Given the description of an element on the screen output the (x, y) to click on. 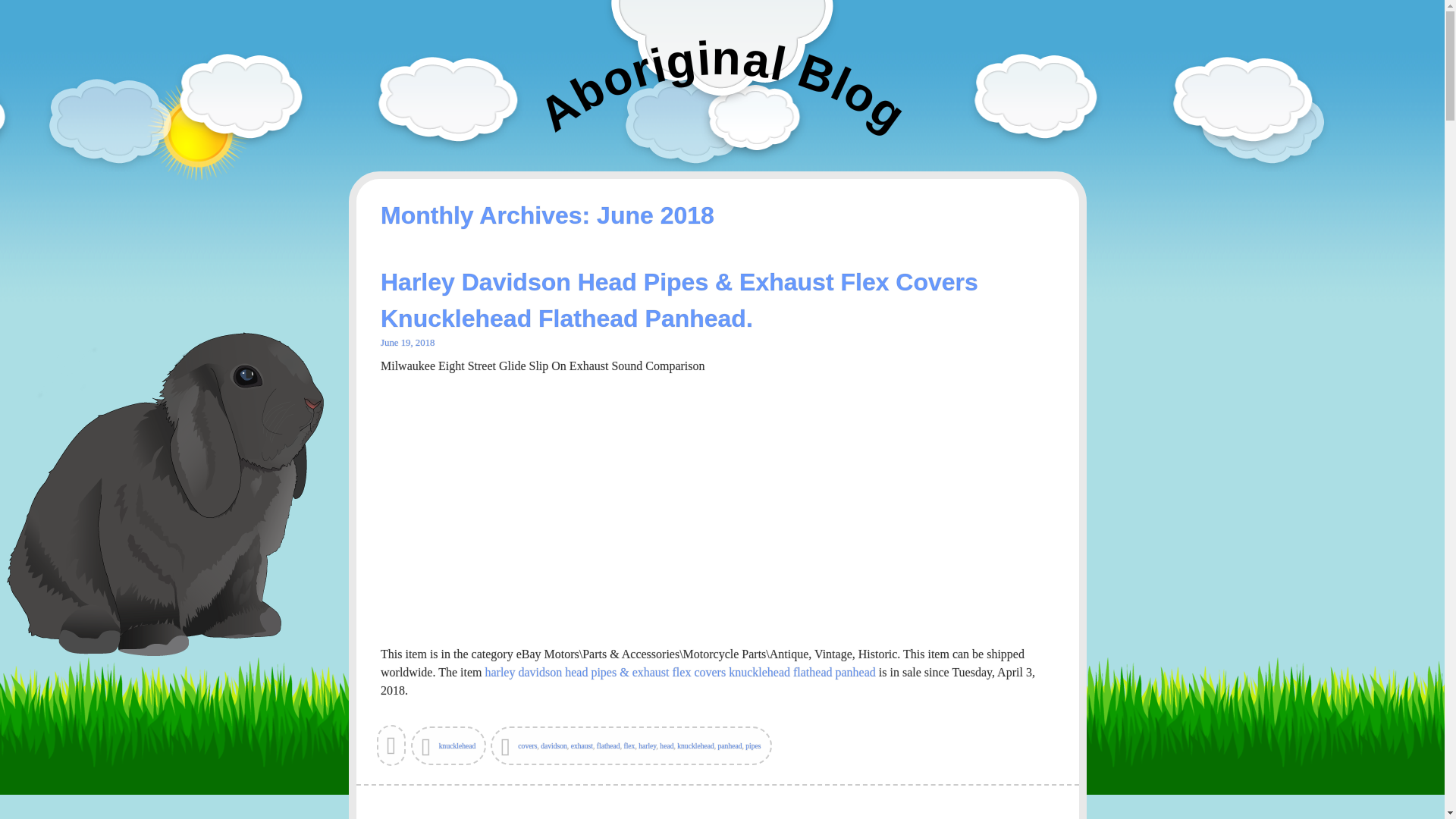
pipes (752, 746)
Category (448, 745)
harley (647, 746)
head (665, 746)
knucklehead (457, 746)
knucklehead (695, 746)
June 19, 2018 (406, 342)
Tags (630, 745)
panhead (729, 746)
exhaust (581, 746)
flathead (608, 746)
flex (628, 746)
davidson (553, 746)
covers (527, 746)
View all posts by admin (392, 750)
